Given the description of an element on the screen output the (x, y) to click on. 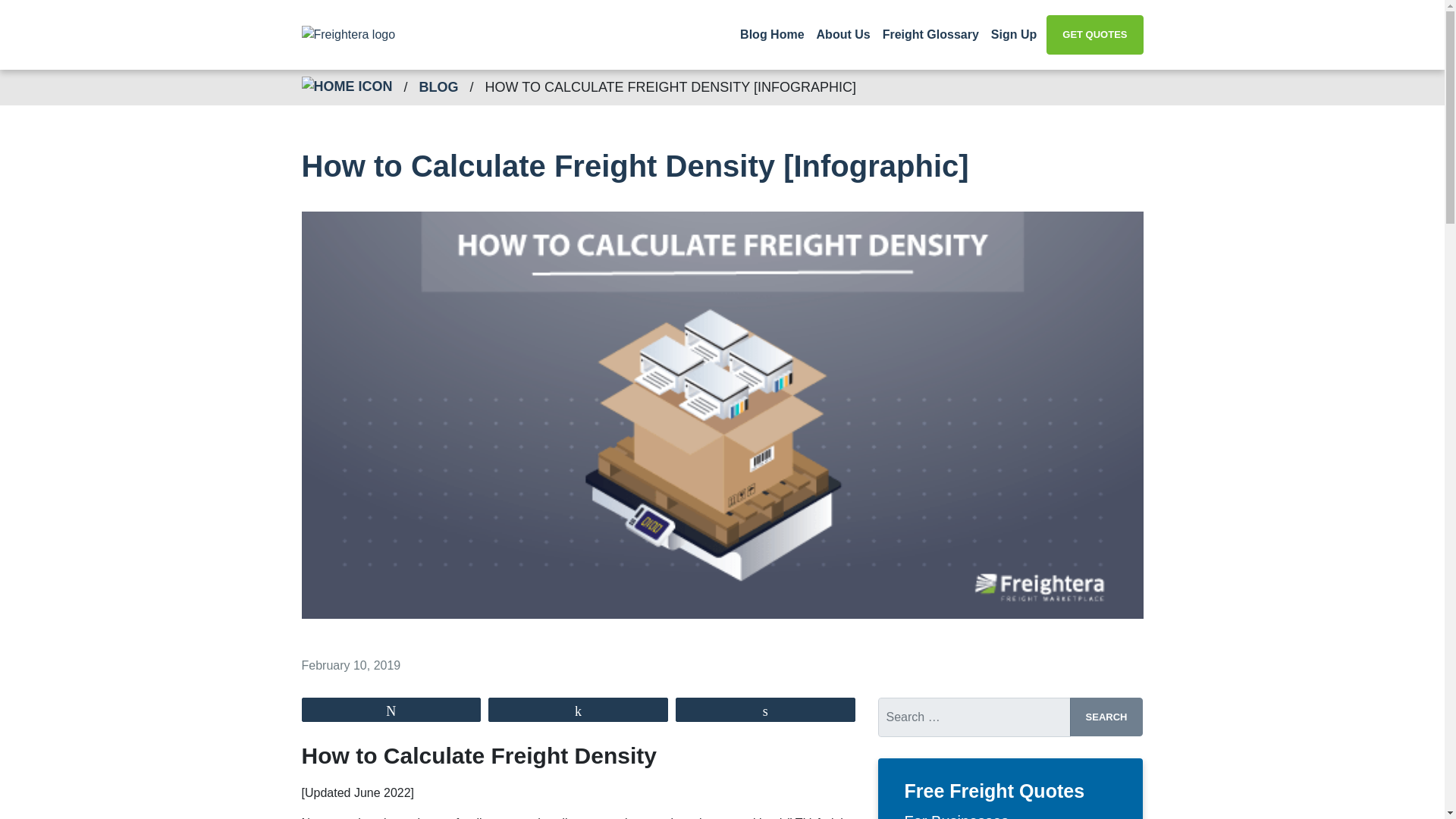
Sign Up (1013, 34)
Search (1106, 717)
About Us (843, 34)
Blog Home (771, 34)
Freight Glossary (930, 34)
Search (1106, 717)
Freight Glossary (930, 34)
Blog Home (771, 34)
BLOG (438, 86)
Sign Up (1013, 34)
